Given the description of an element on the screen output the (x, y) to click on. 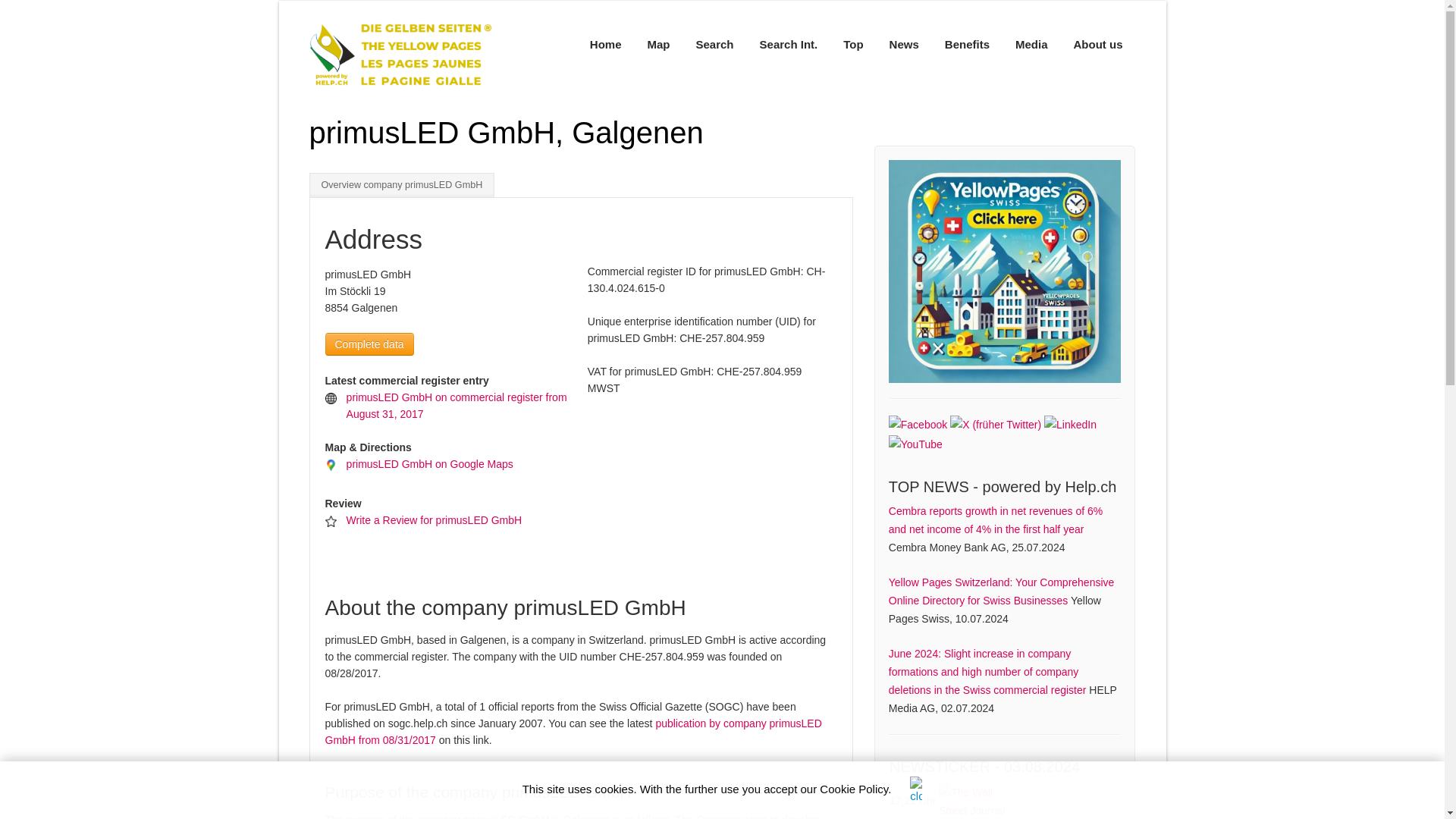
Media (1031, 44)
See us on Twitter (995, 423)
Map (657, 44)
See us on Facebook (917, 423)
primusLED GmbH on Google Maps (429, 463)
Complete data (368, 343)
Complete data (368, 343)
Home (605, 44)
Search Int. (788, 44)
About us (1097, 44)
Write a Review for primusLED GmbH (434, 520)
Search (714, 44)
News (903, 44)
Top Swiss Companies (1004, 271)
